Given the description of an element on the screen output the (x, y) to click on. 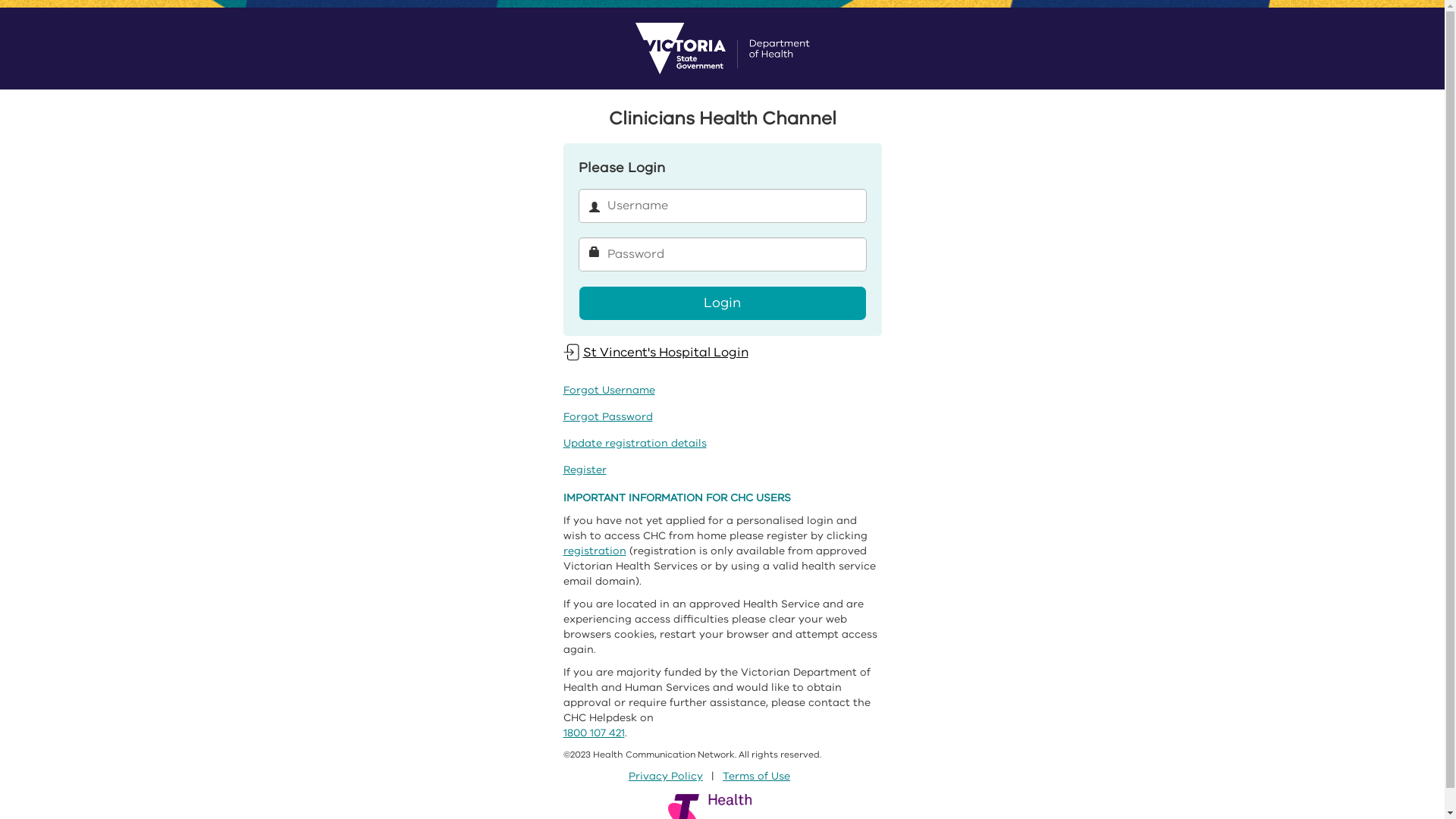
Terms of Use Element type: text (756, 775)
Forgot Password Element type: text (607, 416)
Forgot Username Element type: text (608, 389)
Update registration details Element type: text (634, 443)
registration Element type: text (593, 550)
Register Element type: text (583, 469)
Login Element type: text (721, 302)
Privacy Policy Element type: text (665, 775)
St Vincent's Hospital Login Element type: text (654, 351)
1800 107 421 Element type: text (593, 732)
